Given the description of an element on the screen output the (x, y) to click on. 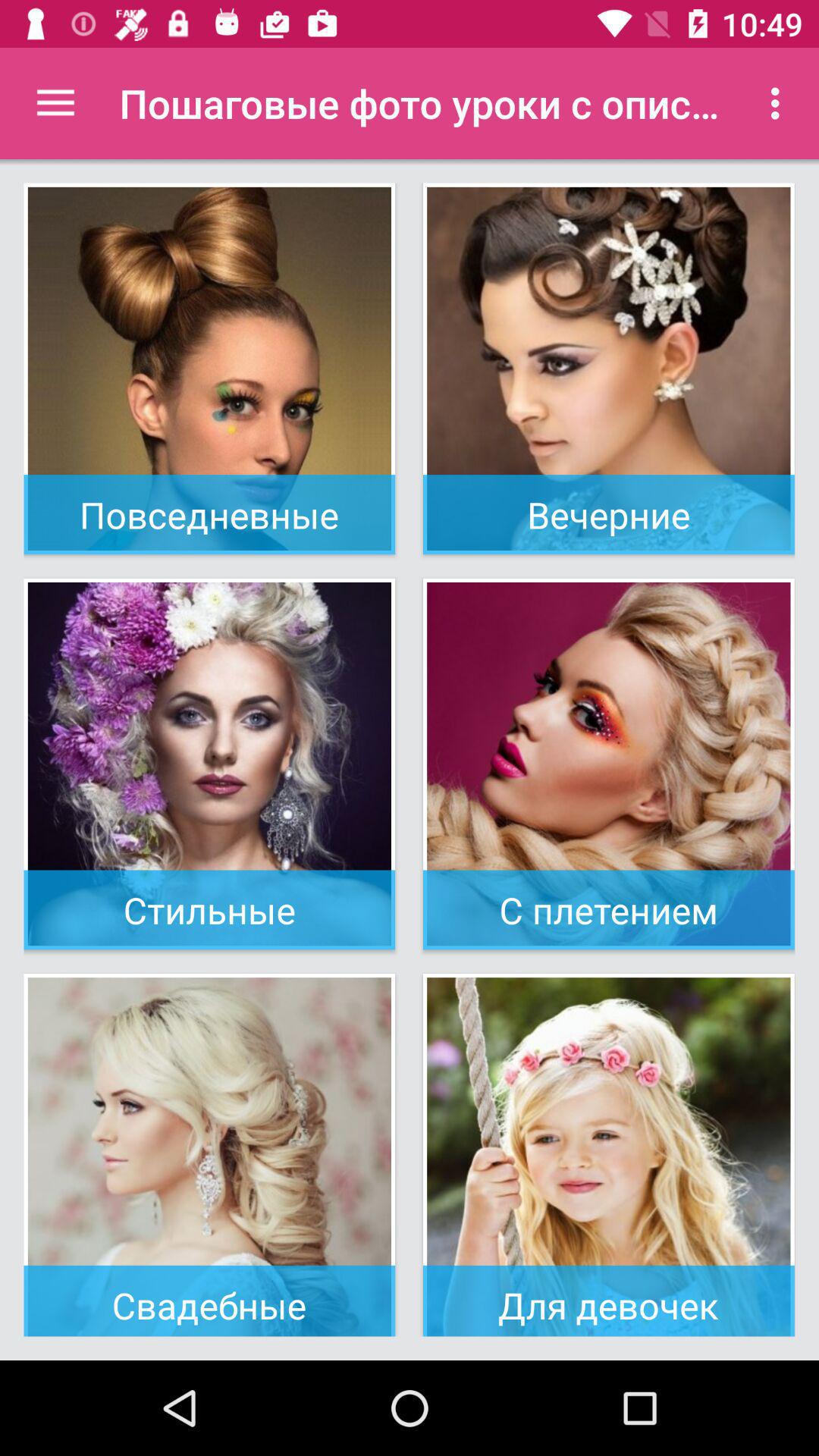
click on 1st row 2nd image (608, 368)
